Given the description of an element on the screen output the (x, y) to click on. 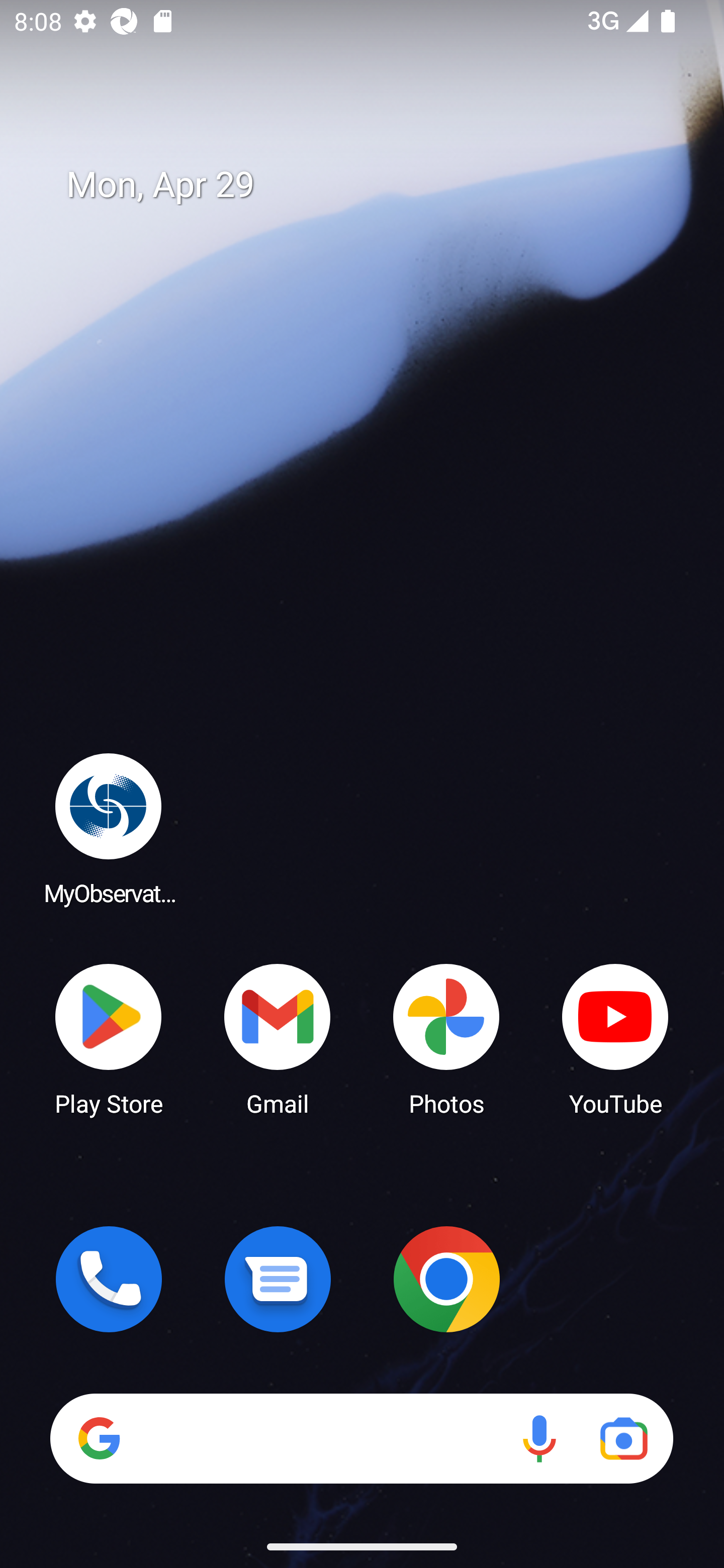
Mon, Apr 29 (375, 184)
MyObservatory (108, 828)
Play Store (108, 1038)
Gmail (277, 1038)
Photos (445, 1038)
YouTube (615, 1038)
Phone (108, 1279)
Messages (277, 1279)
Chrome (446, 1279)
Voice search (539, 1438)
Google Lens (623, 1438)
